Given the description of an element on the screen output the (x, y) to click on. 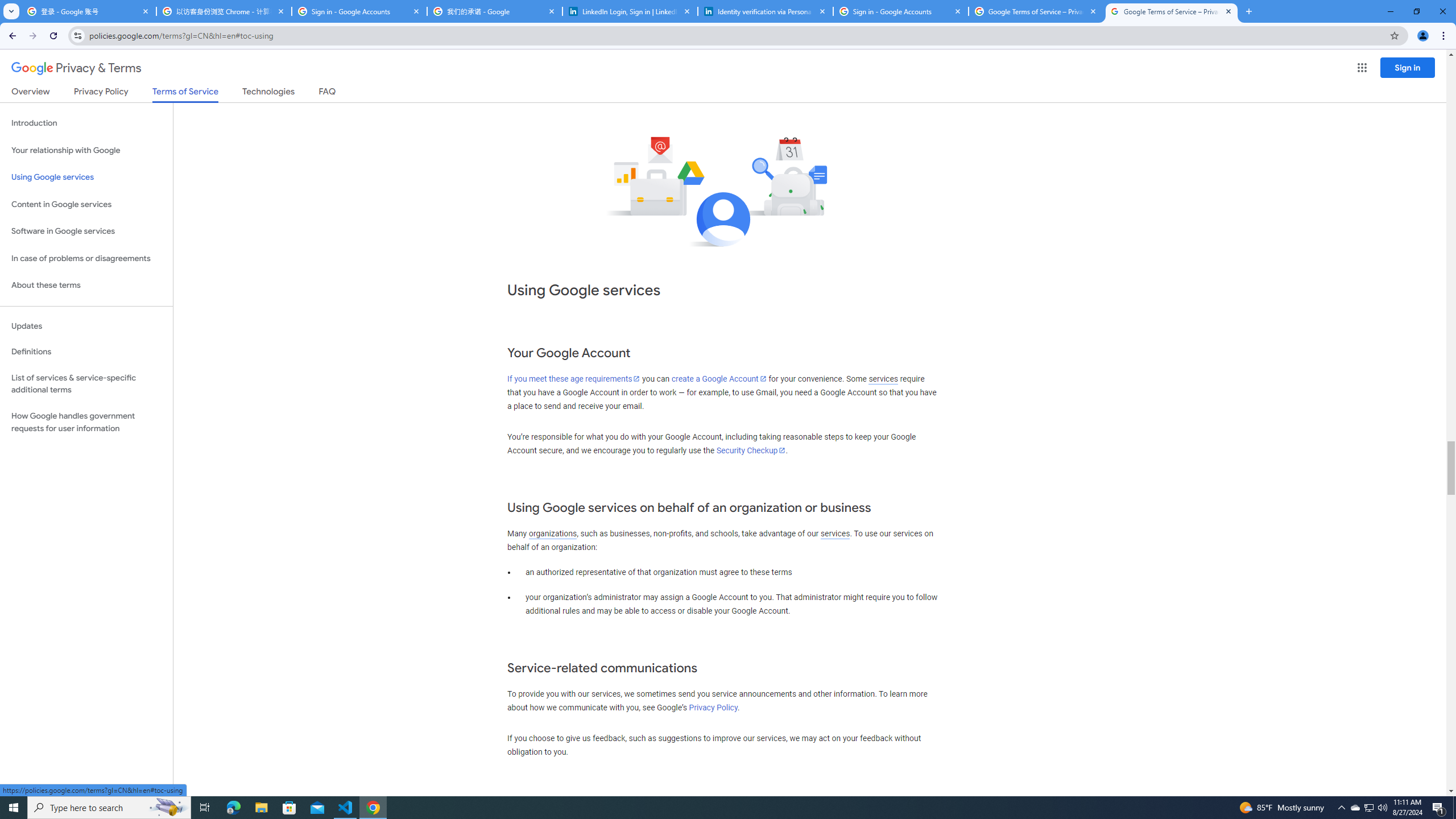
Sign in - Google Accounts (359, 11)
Using Google services (86, 176)
Your relationship with Google (86, 150)
How Google handles government requests for user information (86, 422)
Technologies (268, 93)
Identity verification via Persona | LinkedIn Help (765, 11)
Privacy & Terms (76, 68)
Content in Google services (86, 204)
In case of problems or disagreements (86, 258)
